Given the description of an element on the screen output the (x, y) to click on. 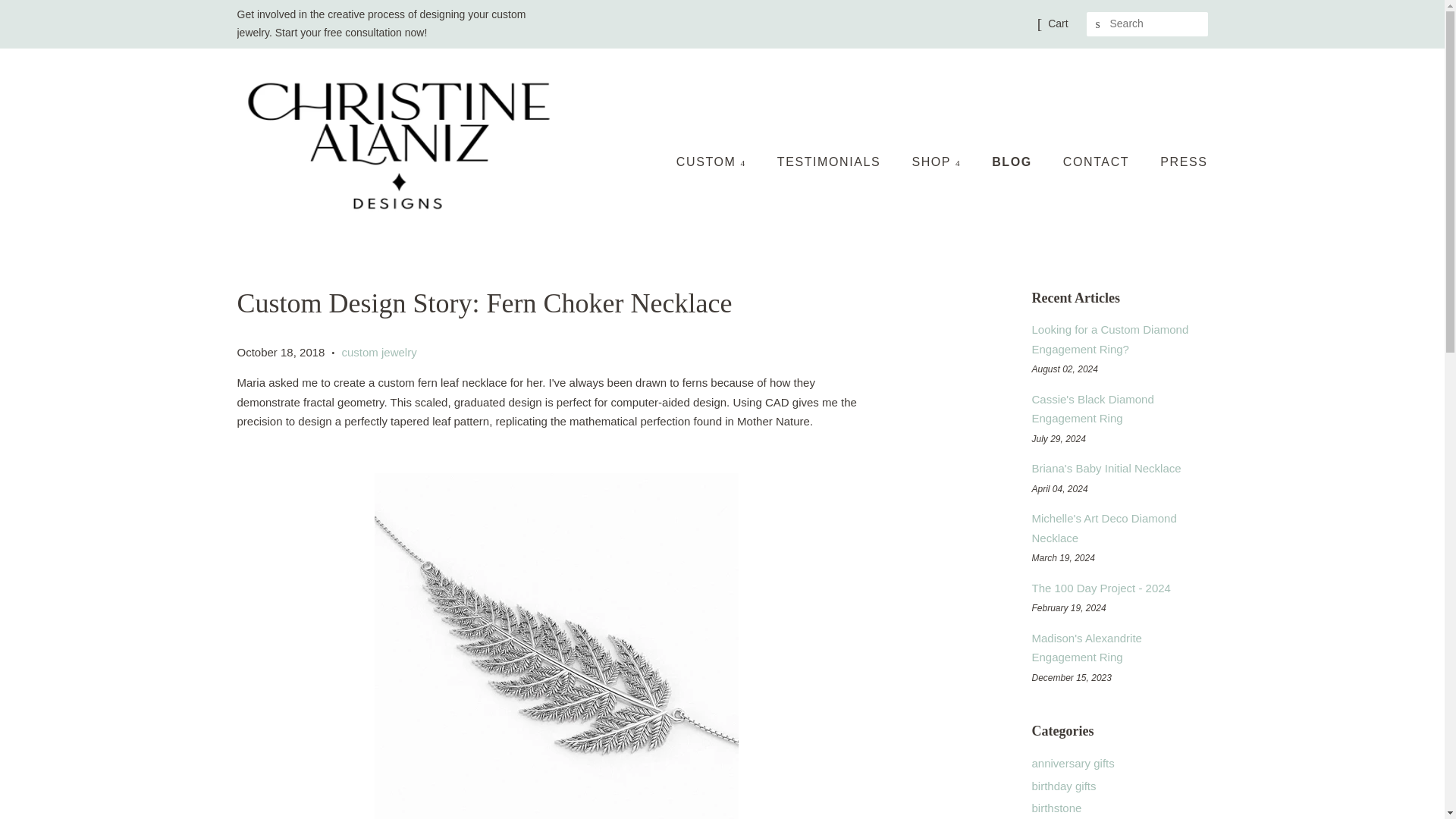
CONTACT (1097, 161)
Cart (1057, 24)
Show articles tagged birthstone (1055, 807)
TESTIMONIALS (830, 161)
PRESS (1177, 161)
SHOP (937, 161)
Show articles tagged anniversary gifts (1071, 762)
custom jewelry (378, 351)
Show articles tagged birthday gifts (1063, 785)
